Given the description of an element on the screen output the (x, y) to click on. 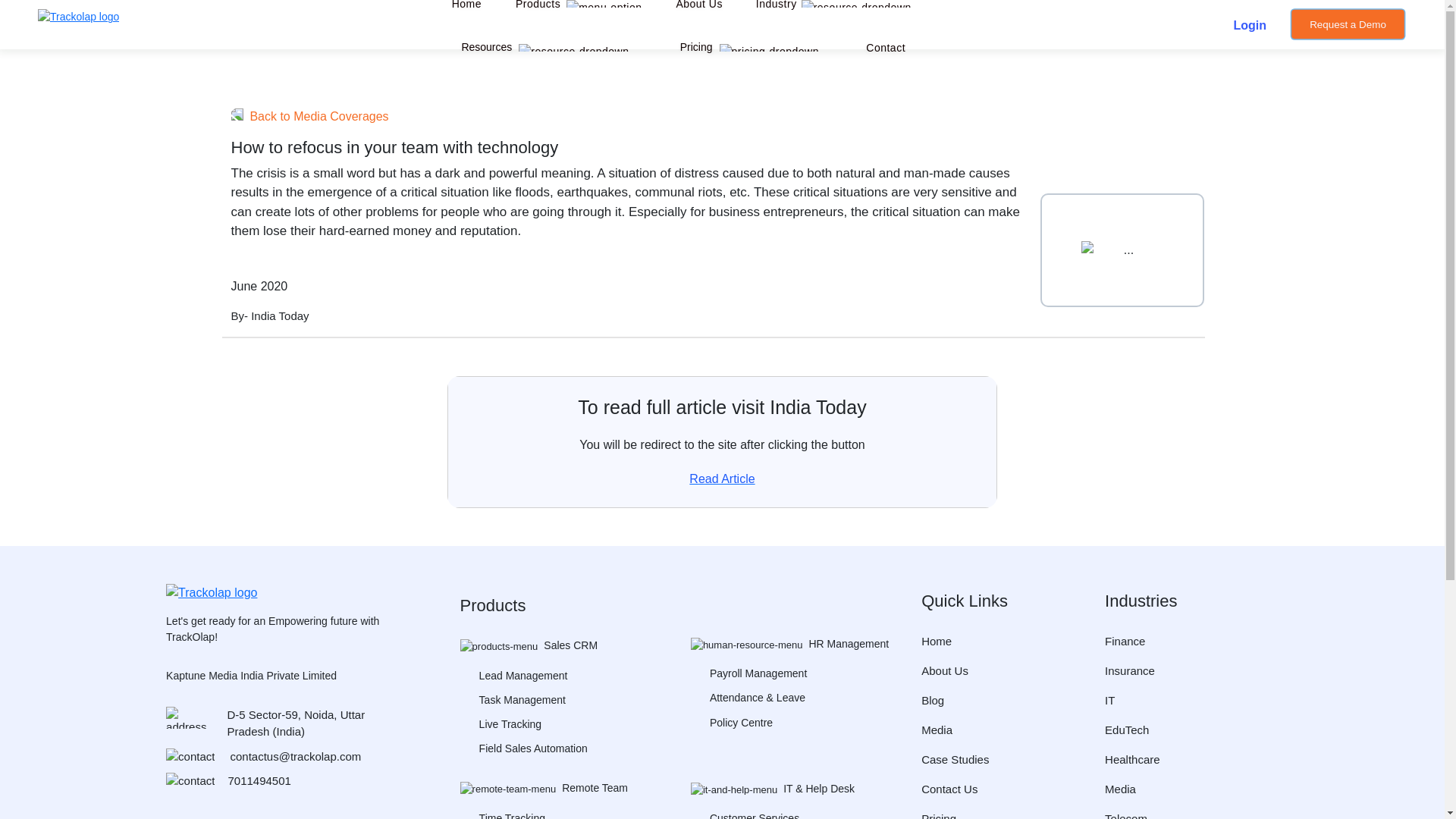
Resources (486, 47)
About Us (698, 13)
Pricing (696, 47)
Home (466, 13)
